Given the description of an element on the screen output the (x, y) to click on. 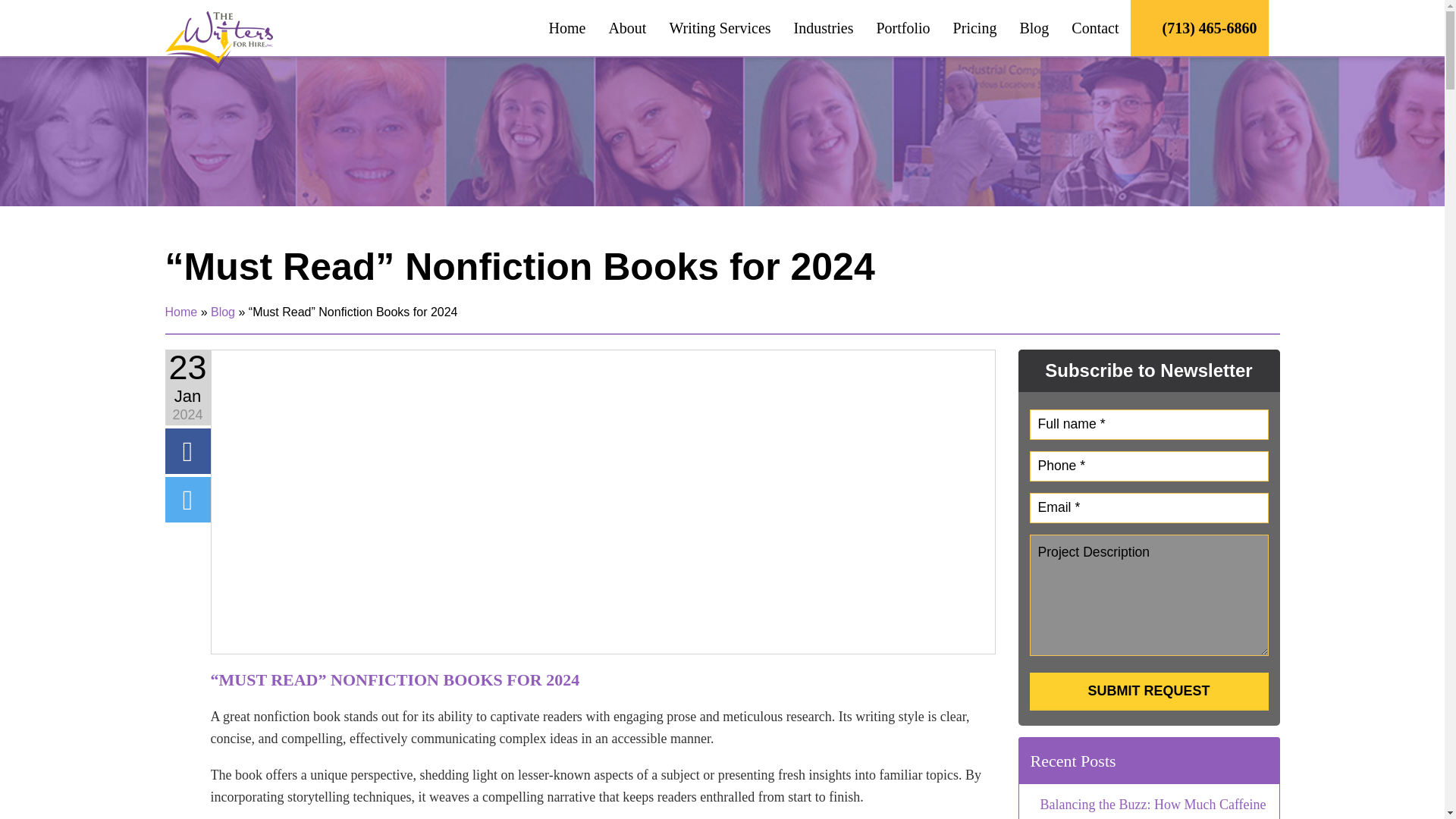
SUBMIT REQUEST (1148, 690)
About (627, 28)
Home (566, 28)
Writing Services (719, 28)
